Given the description of an element on the screen output the (x, y) to click on. 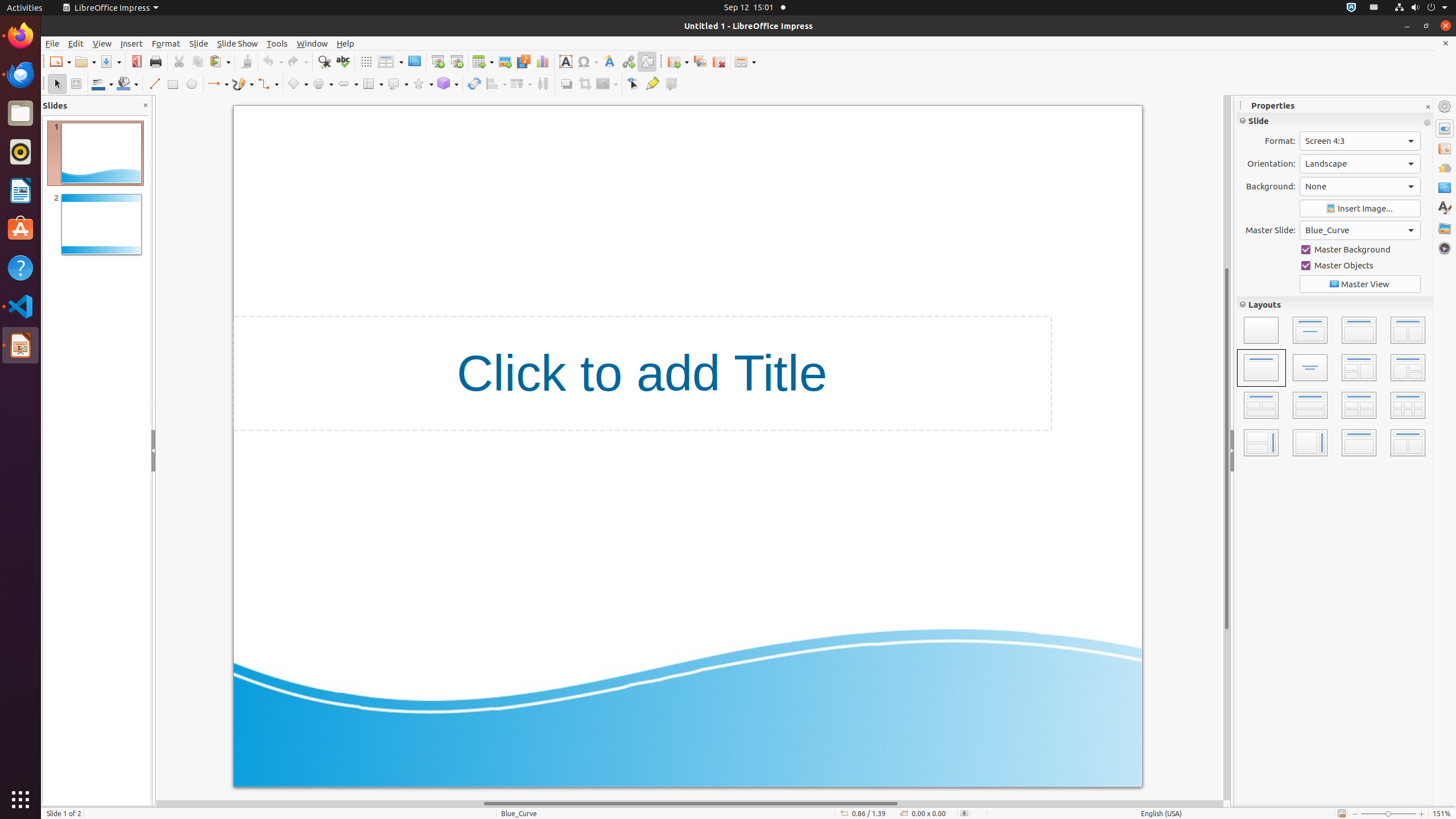
Font Size Element type: combo-box (1405, 140)
Styles Element type: radio-button (1444, 208)
Star Shapes Element type: push-button (422, 83)
Connectors Element type: push-button (267, 83)
Slide Show Element type: menu (237, 43)
